Given the description of an element on the screen output the (x, y) to click on. 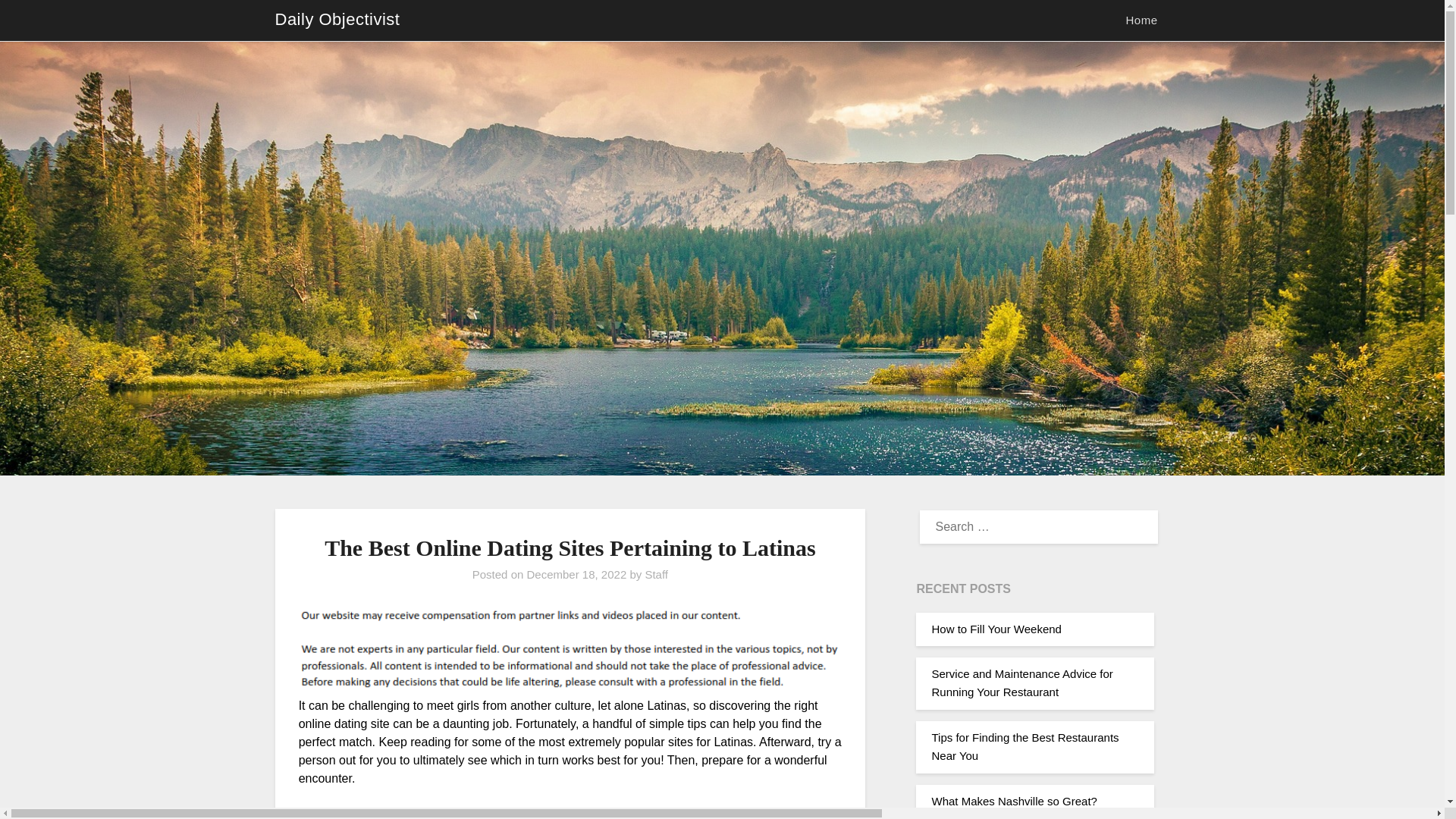
Home (1141, 20)
Service and Maintenance Advice for Running Your Restaurant (1021, 682)
What Makes Nashville so Great? (1013, 800)
Tips for Finding the Best Restaurants Near You (1024, 746)
Daily Objectivist (336, 19)
How to Fill Your Weekend (996, 628)
Staff (656, 574)
December 18, 2022 (575, 574)
Search (38, 22)
